Given the description of an element on the screen output the (x, y) to click on. 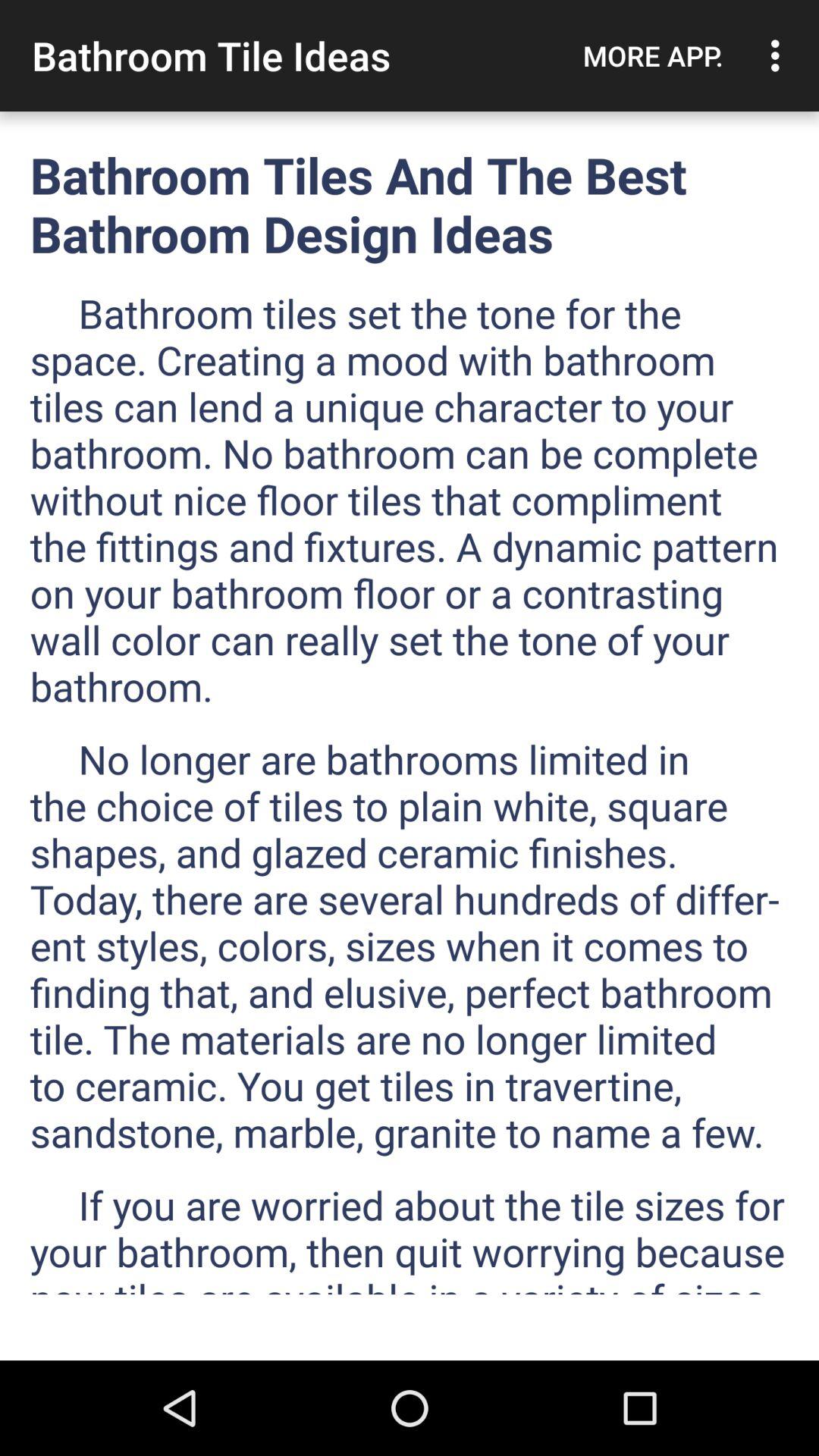
choose the item above bathroom tiles and (779, 55)
